Given the description of an element on the screen output the (x, y) to click on. 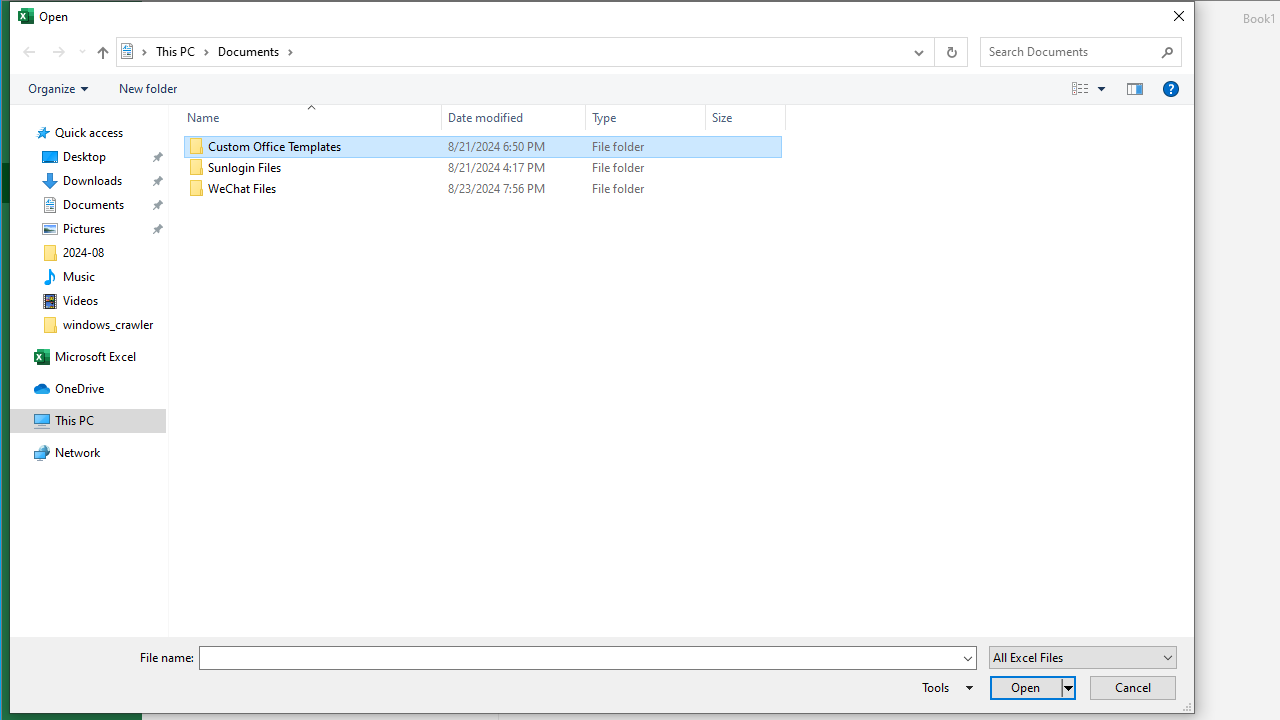
Sunlogin Files (483, 167)
Views (1093, 89)
Tools (943, 687)
Back (Alt + Left Arrow) (28, 51)
Cancel (1133, 688)
Custom Office Templates (483, 146)
Date modified (513, 188)
New folder (147, 89)
All locations (134, 51)
Date modified (513, 117)
Address: Documents (508, 51)
Size (745, 117)
Previous Locations (917, 51)
